Given the description of an element on the screen output the (x, y) to click on. 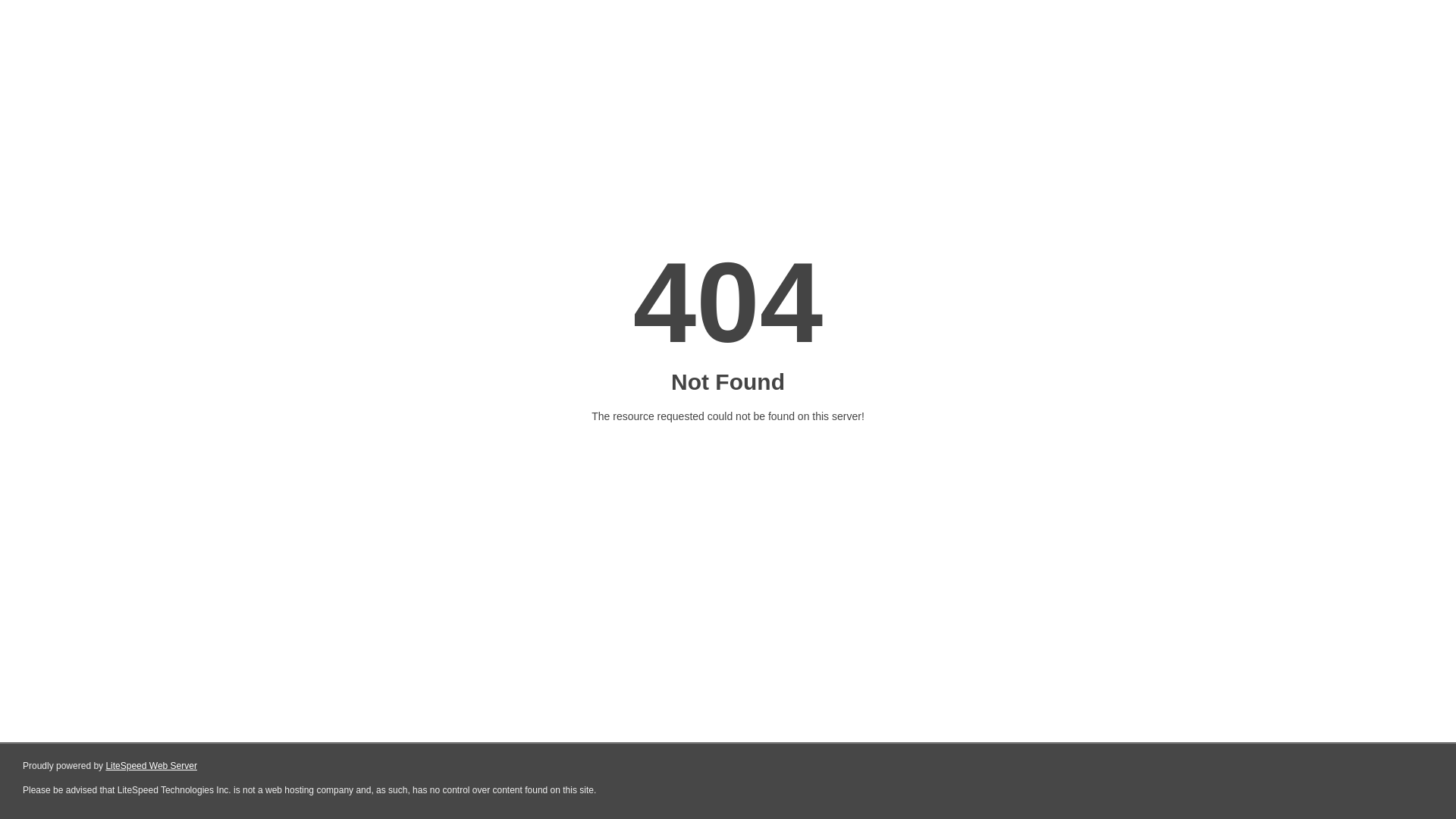
LiteSpeed Web Server Element type: text (151, 765)
